Given the description of an element on the screen output the (x, y) to click on. 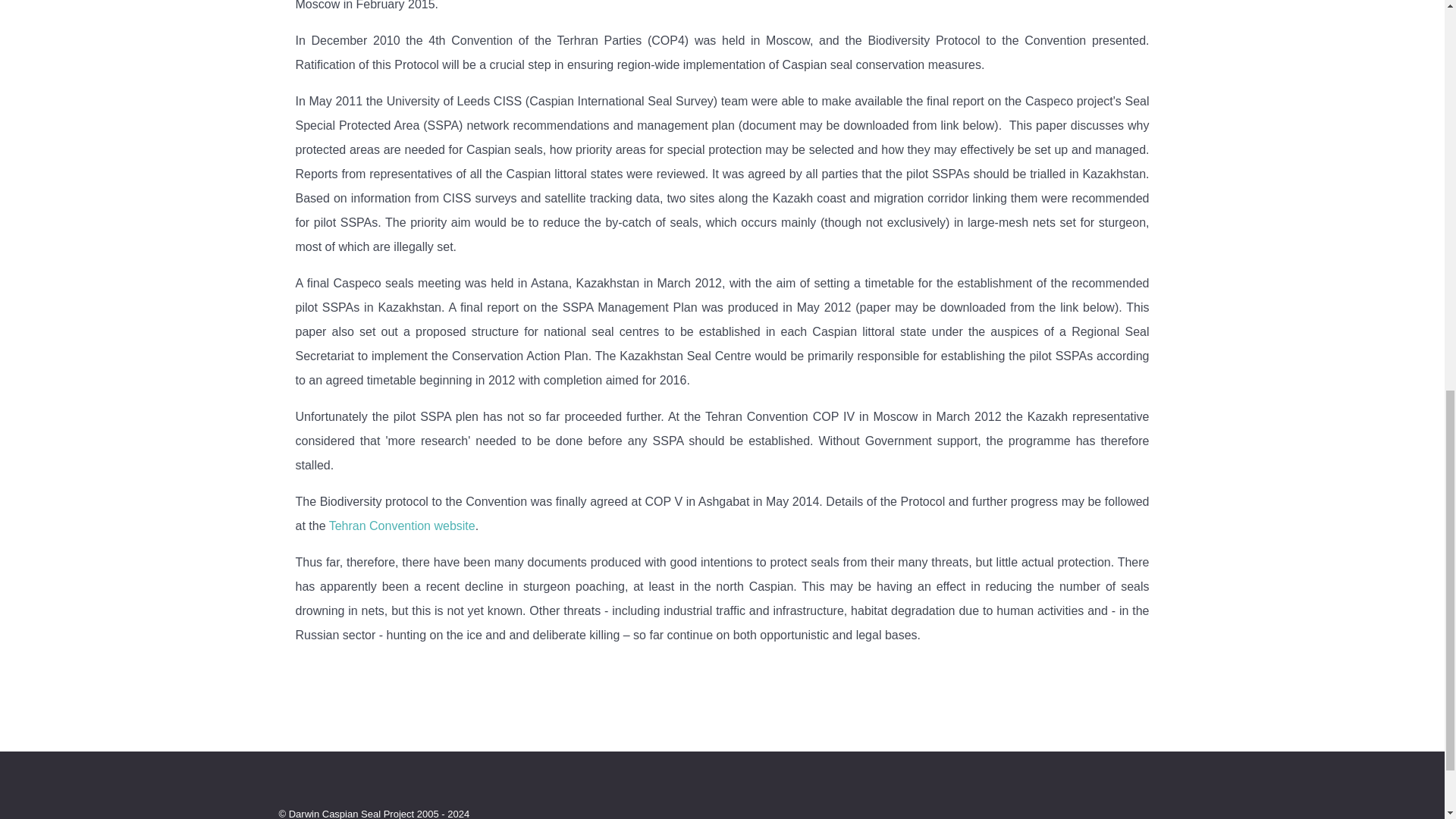
Tehran Convention website (402, 525)
